Given the description of an element on the screen output the (x, y) to click on. 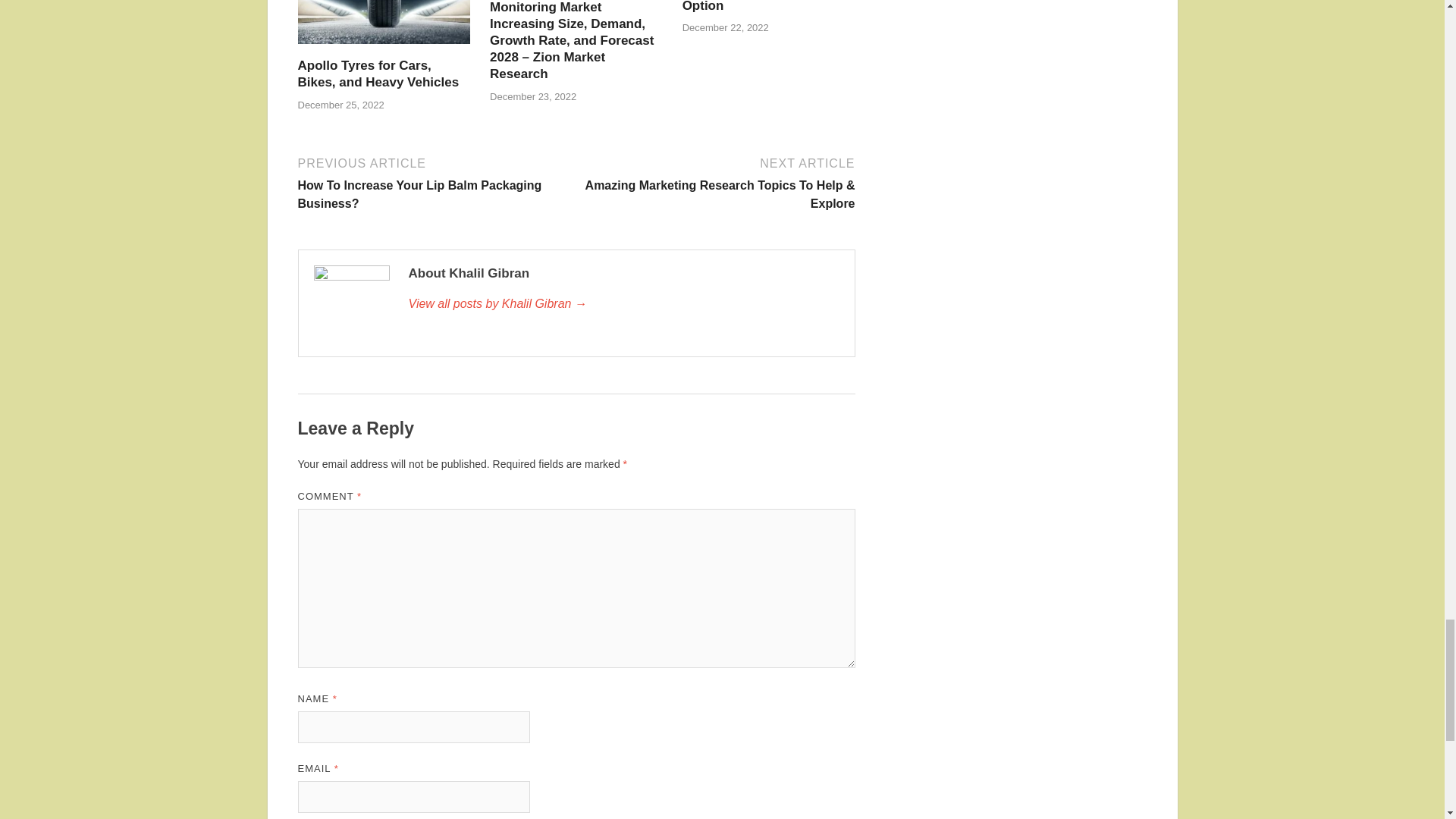
Khalil Gibran (622, 303)
Cardboard Display Boxes: An Eco-Friendly Packaging Option (765, 6)
Apollo Tyres for Cars, Bikes, and Heavy Vehicles (377, 73)
Apollo Tyres for Cars, Bikes, and Heavy Vehicles (383, 47)
